Given the description of an element on the screen output the (x, y) to click on. 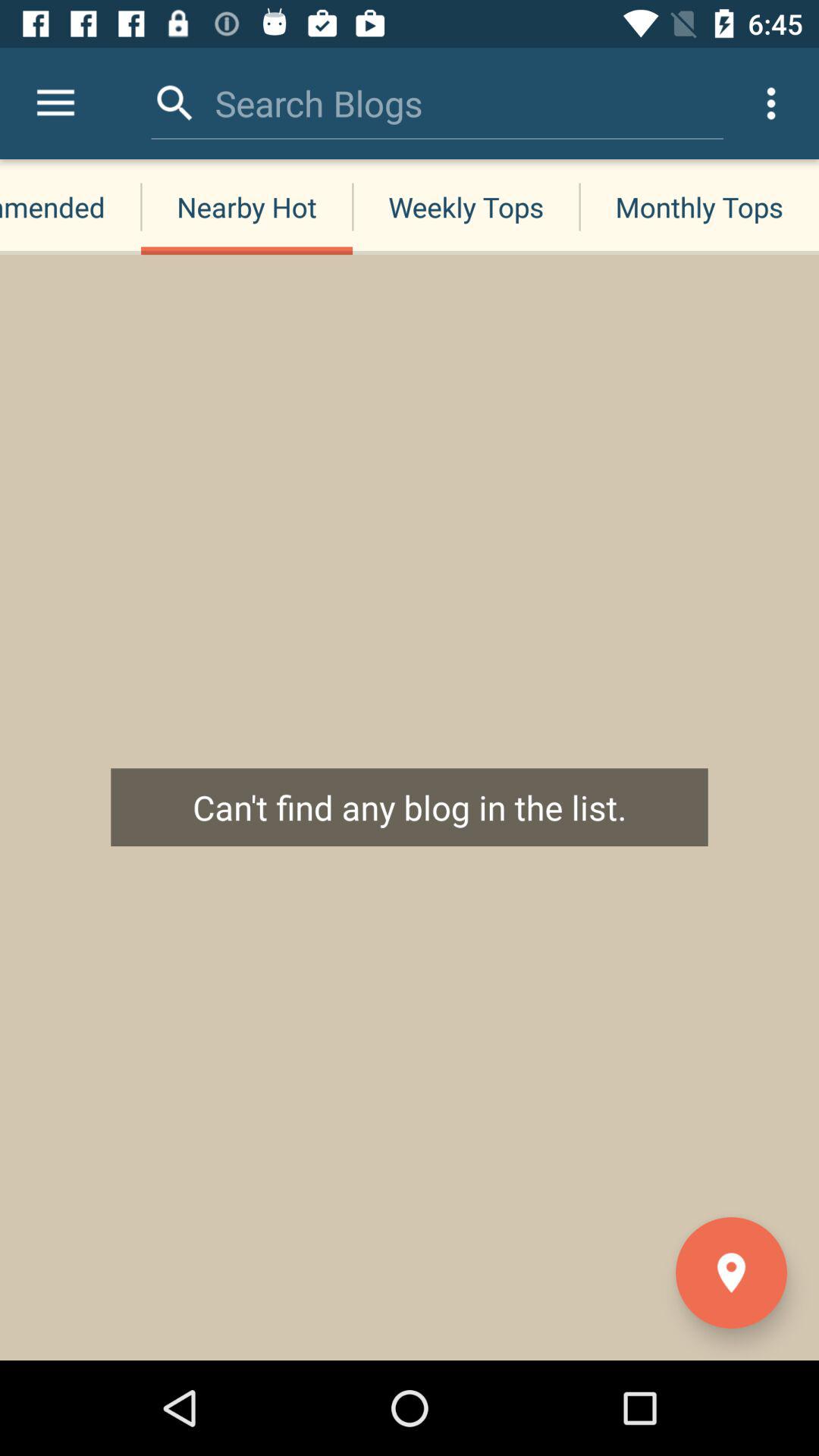
press item next to weekly tops icon (699, 206)
